Given the description of an element on the screen output the (x, y) to click on. 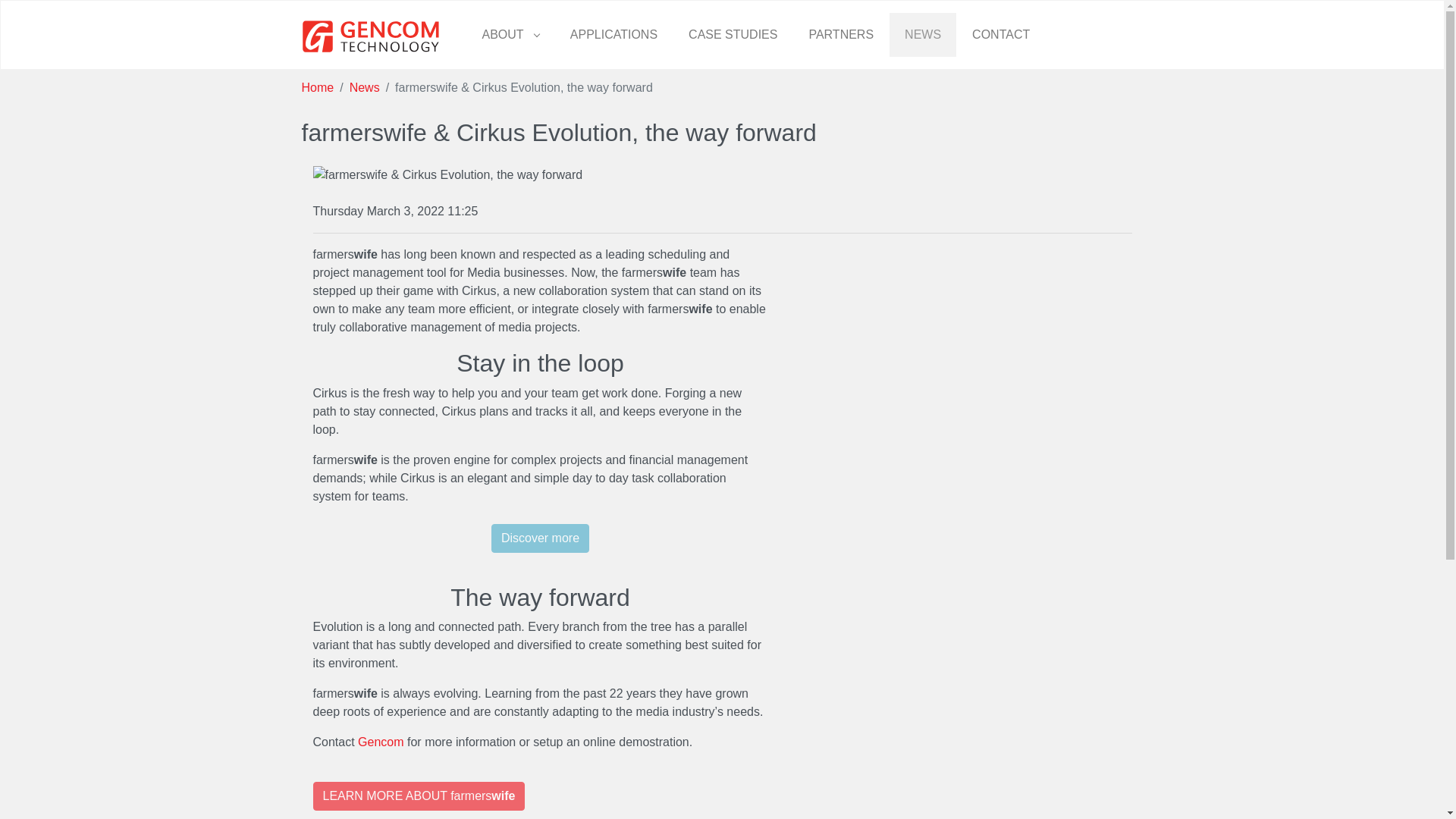
ABOUT (510, 34)
APPLICATIONS (613, 34)
NEWS (922, 34)
CONTACT (1000, 34)
LEARN MORE ABOUT farmerswife (418, 788)
PARTNERS (840, 34)
Discover more (540, 538)
News (364, 87)
LEARN MORE ABOUT farmerswife (418, 796)
Discover more (540, 543)
CASE STUDIES (732, 34)
Home (317, 87)
Gencom (380, 741)
